Given the description of an element on the screen output the (x, y) to click on. 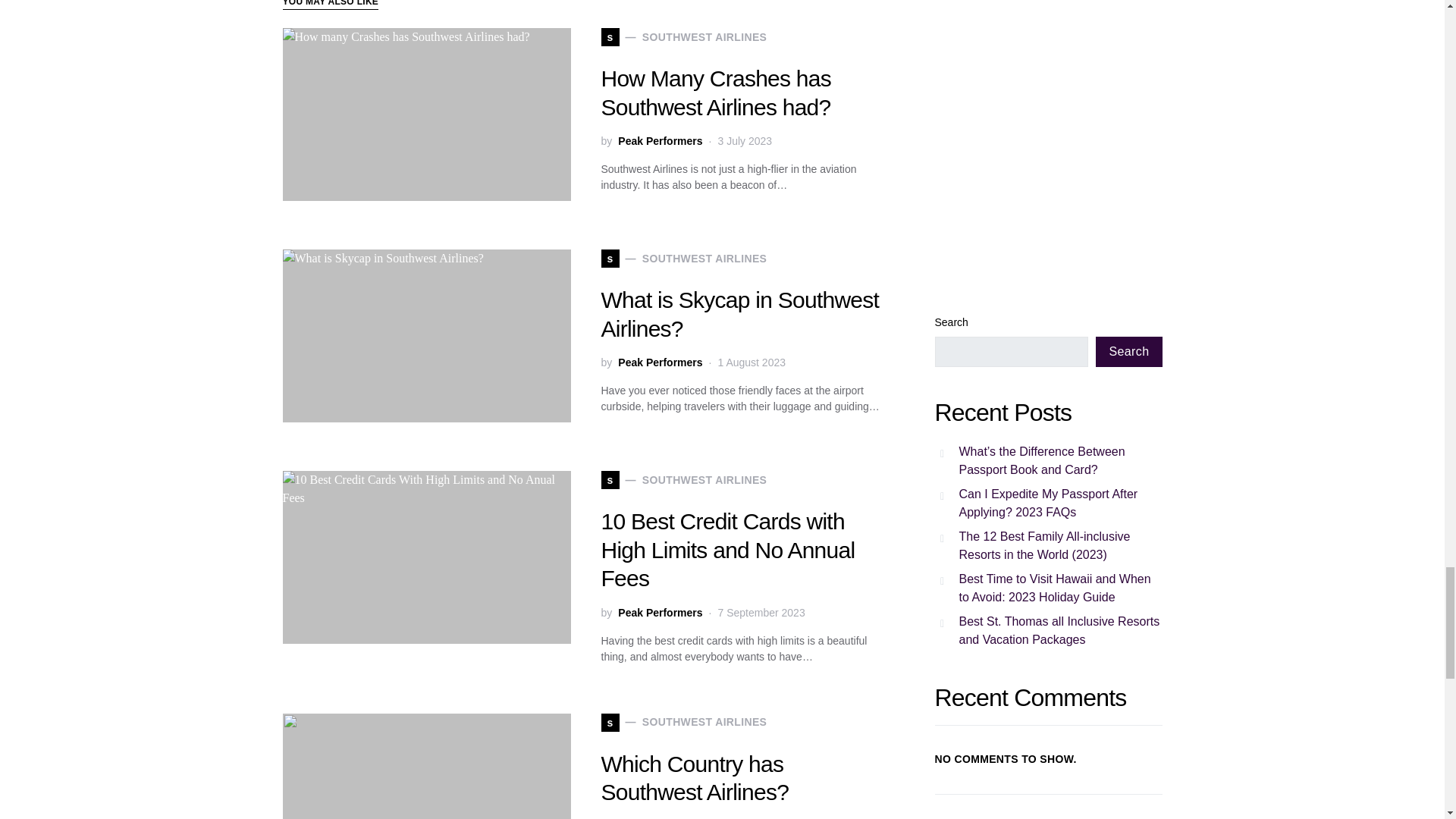
What is Skycap in Southwest Airlines? (739, 314)
View all posts by Peak Performers (659, 141)
Peak Performers (659, 362)
View all posts by Peak Performers (659, 612)
10 Best Credit Cards with High Limits and No Annual Fees (683, 258)
View all posts by Peak Performers (726, 549)
Peak Performers (659, 362)
How Many Crashes has Southwest Airlines had? (659, 612)
